Given the description of an element on the screen output the (x, y) to click on. 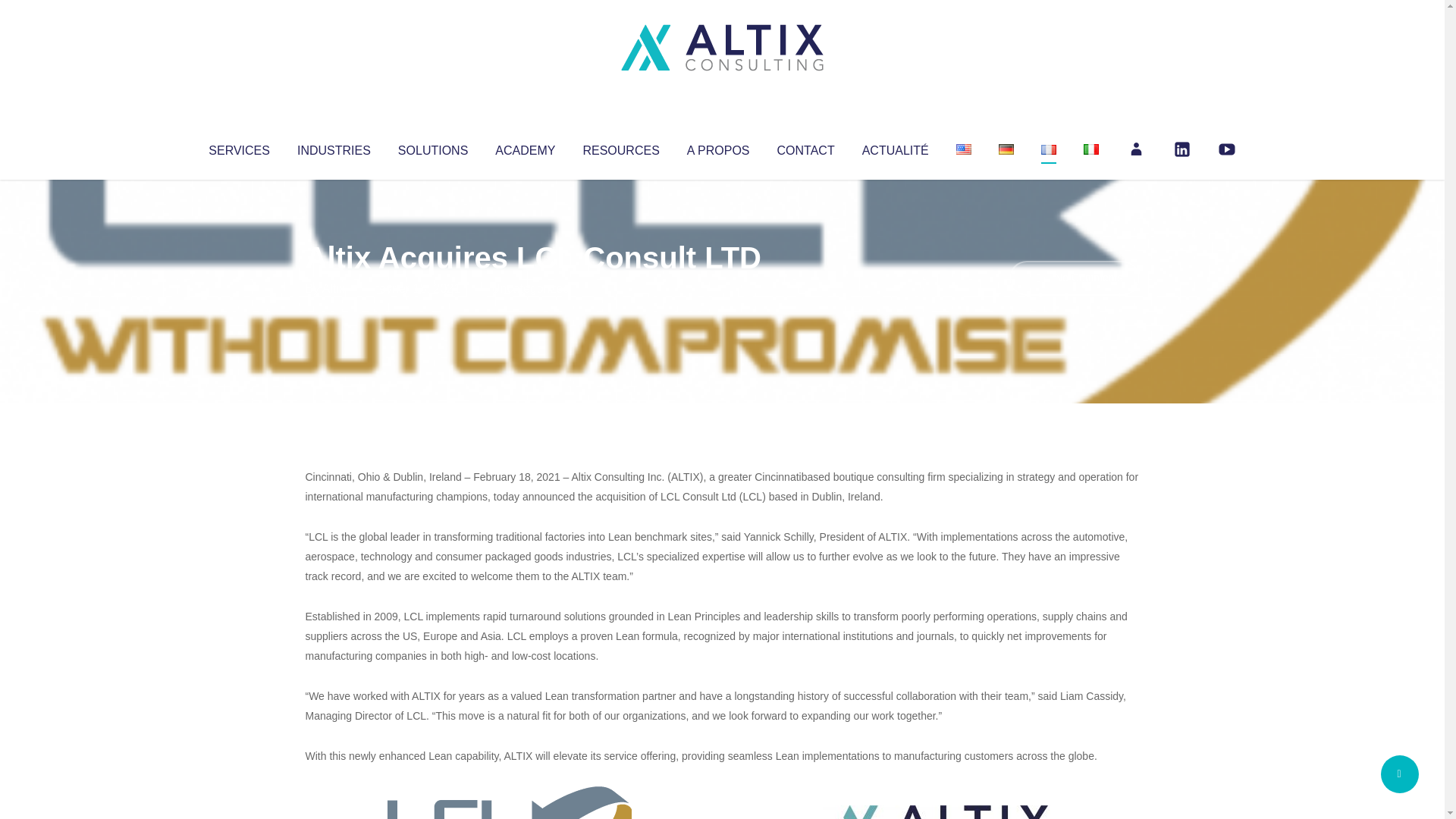
A PROPOS (718, 146)
Altix (333, 287)
Articles par Altix (333, 287)
SOLUTIONS (432, 146)
INDUSTRIES (334, 146)
ACADEMY (524, 146)
SERVICES (238, 146)
Uncategorized (530, 287)
No Comments (1073, 278)
RESOURCES (620, 146)
